Given the description of an element on the screen output the (x, y) to click on. 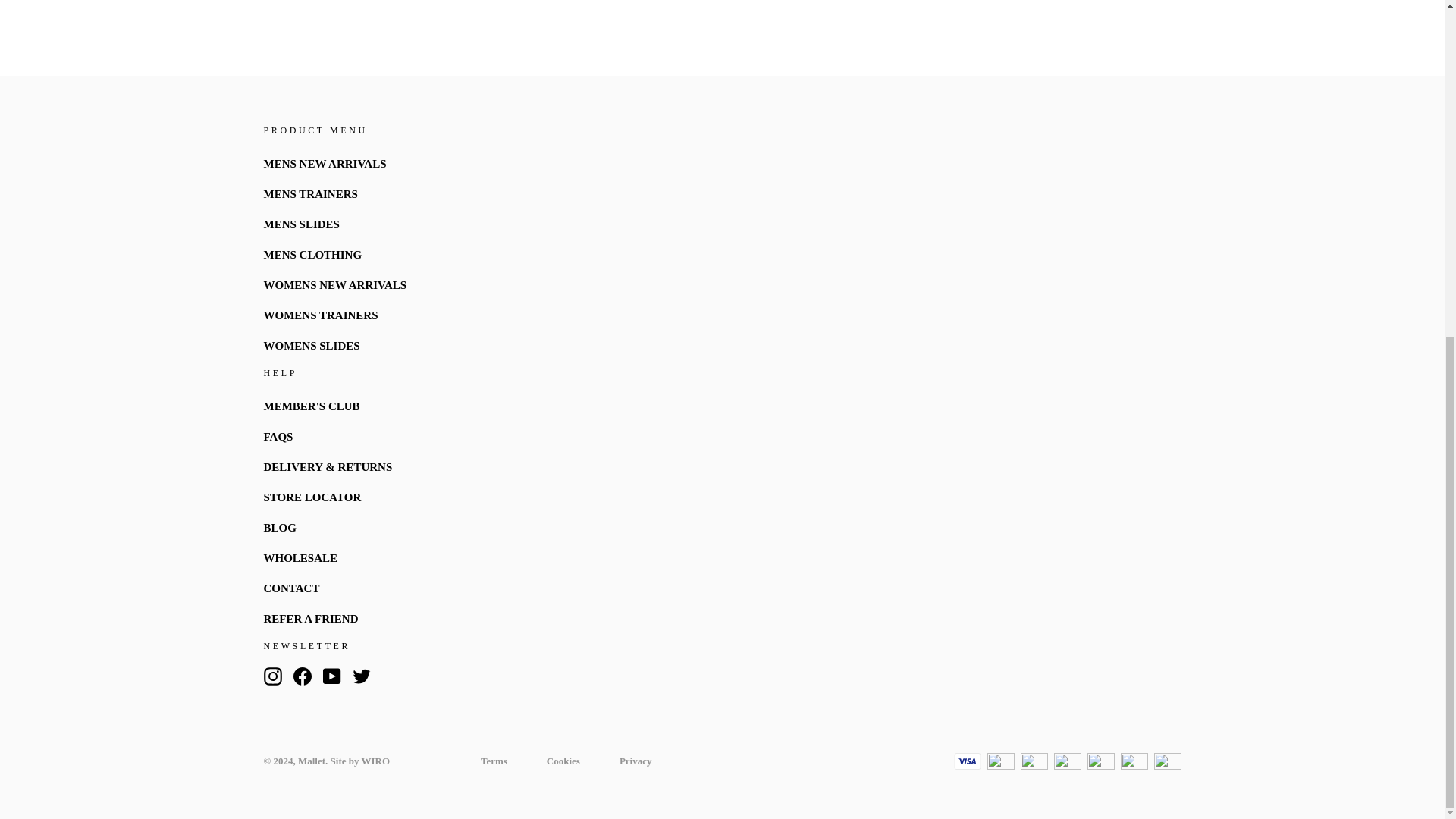
Mallet London on YouTube (331, 676)
Mallet London on Twitter (360, 676)
instagram (272, 676)
twitter (360, 676)
Mallet London on Facebook (301, 676)
Mallet London on Instagram (272, 676)
